Given the description of an element on the screen output the (x, y) to click on. 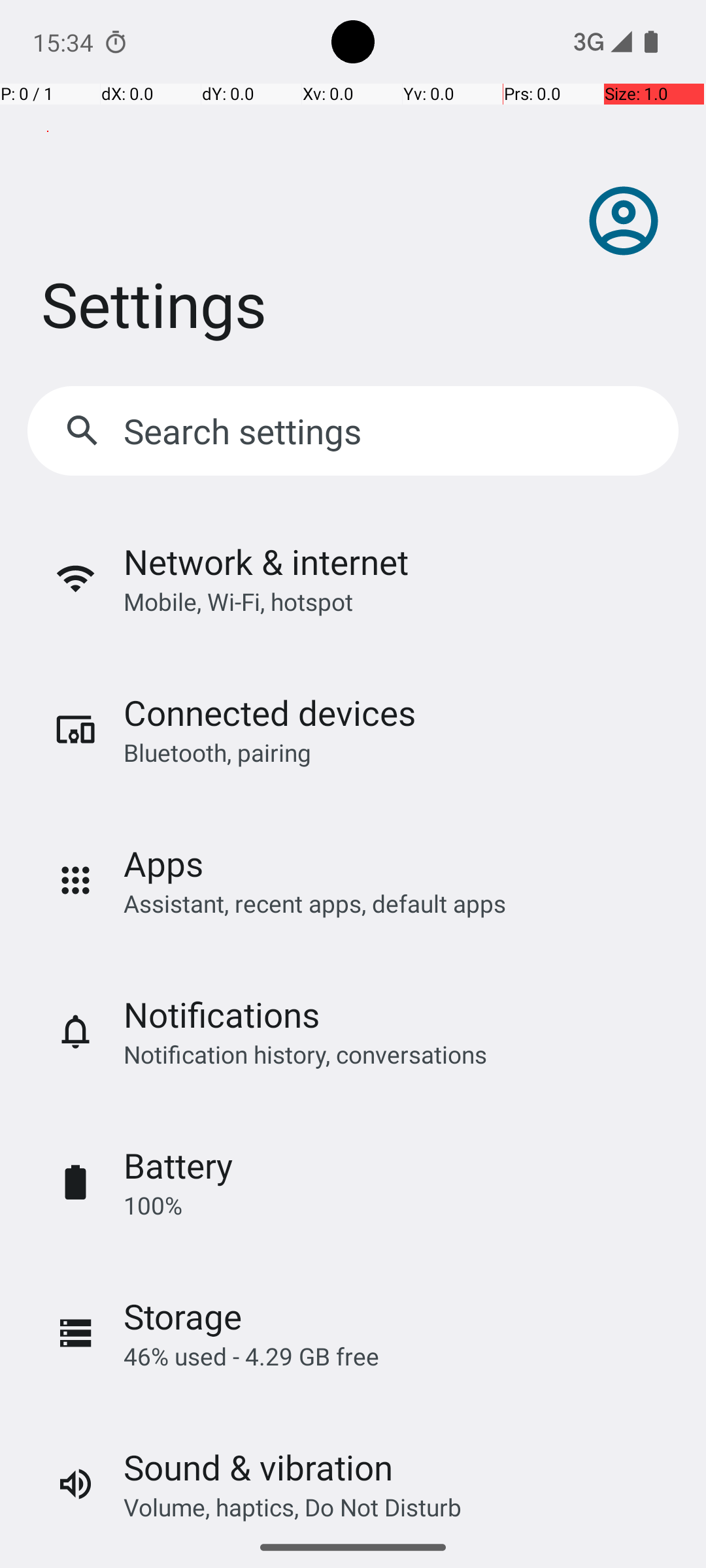
46% used - 4.29 GB free Element type: android.widget.TextView (251, 1355)
